Given the description of an element on the screen output the (x, y) to click on. 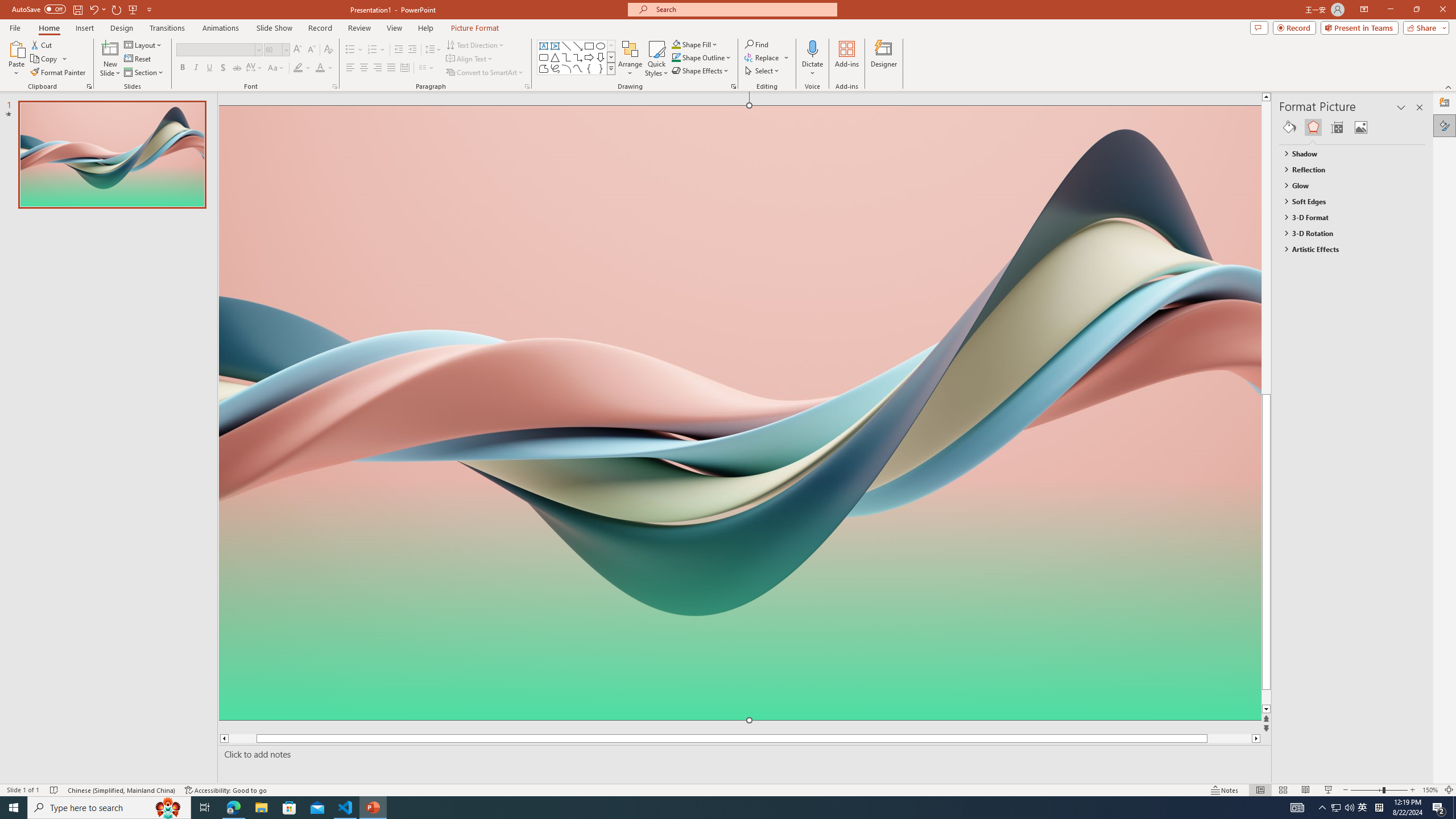
3-D Format (1347, 217)
